Given the description of an element on the screen output the (x, y) to click on. 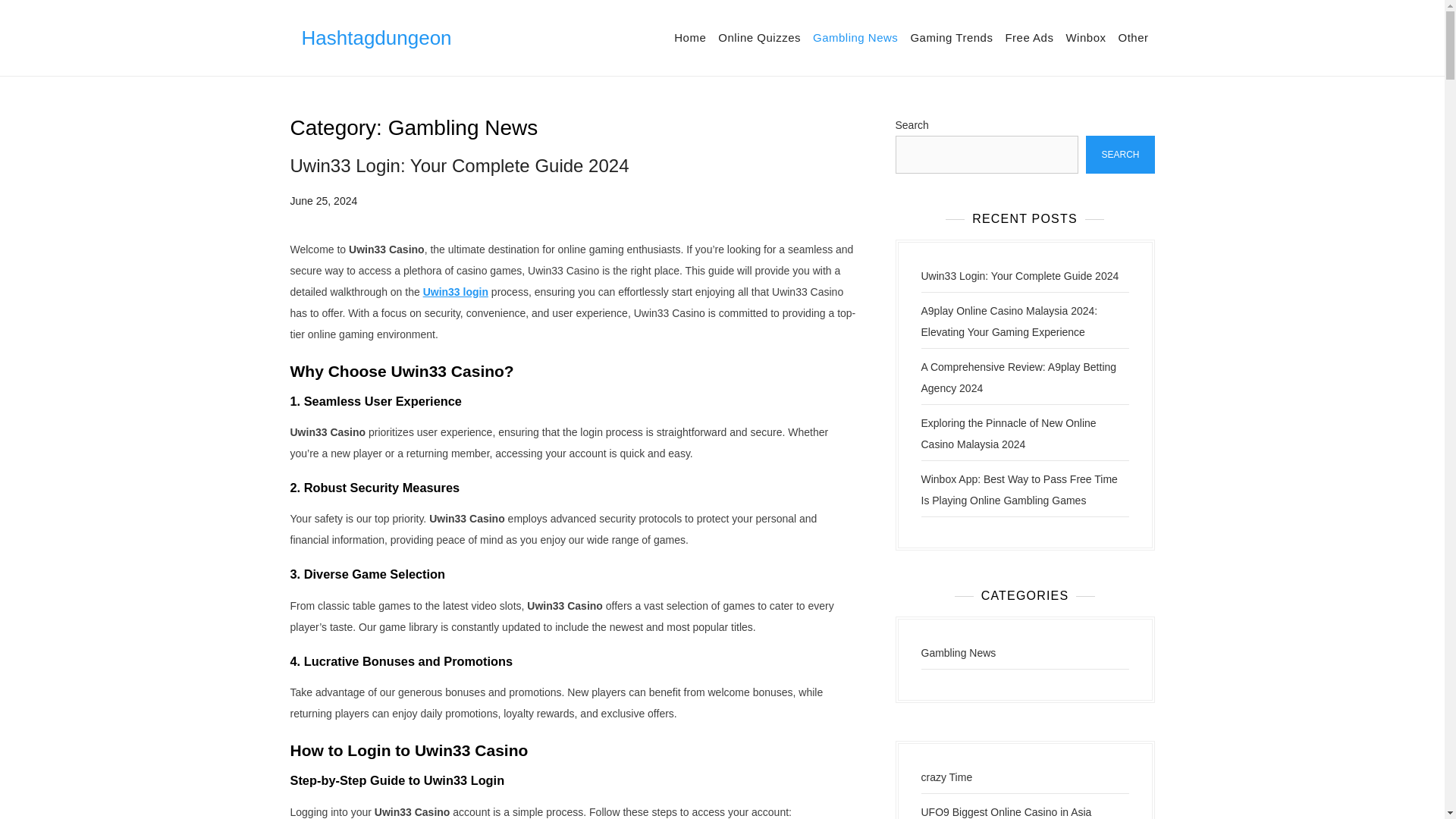
Home (689, 37)
Uwin33 Login: Your Complete Guide 2024 (458, 165)
Gambling News (855, 37)
Other (1133, 37)
Online Quizzes (758, 37)
SEARCH (1120, 154)
Uwin33 login (455, 291)
Hashtagdungeon (376, 37)
Winbox (1085, 37)
Gaming Trends (951, 37)
Free Ads (1028, 37)
Uwin33 Login: Your Complete Guide 2024 (1019, 275)
June 25, 2024 (322, 200)
